Given the description of an element on the screen output the (x, y) to click on. 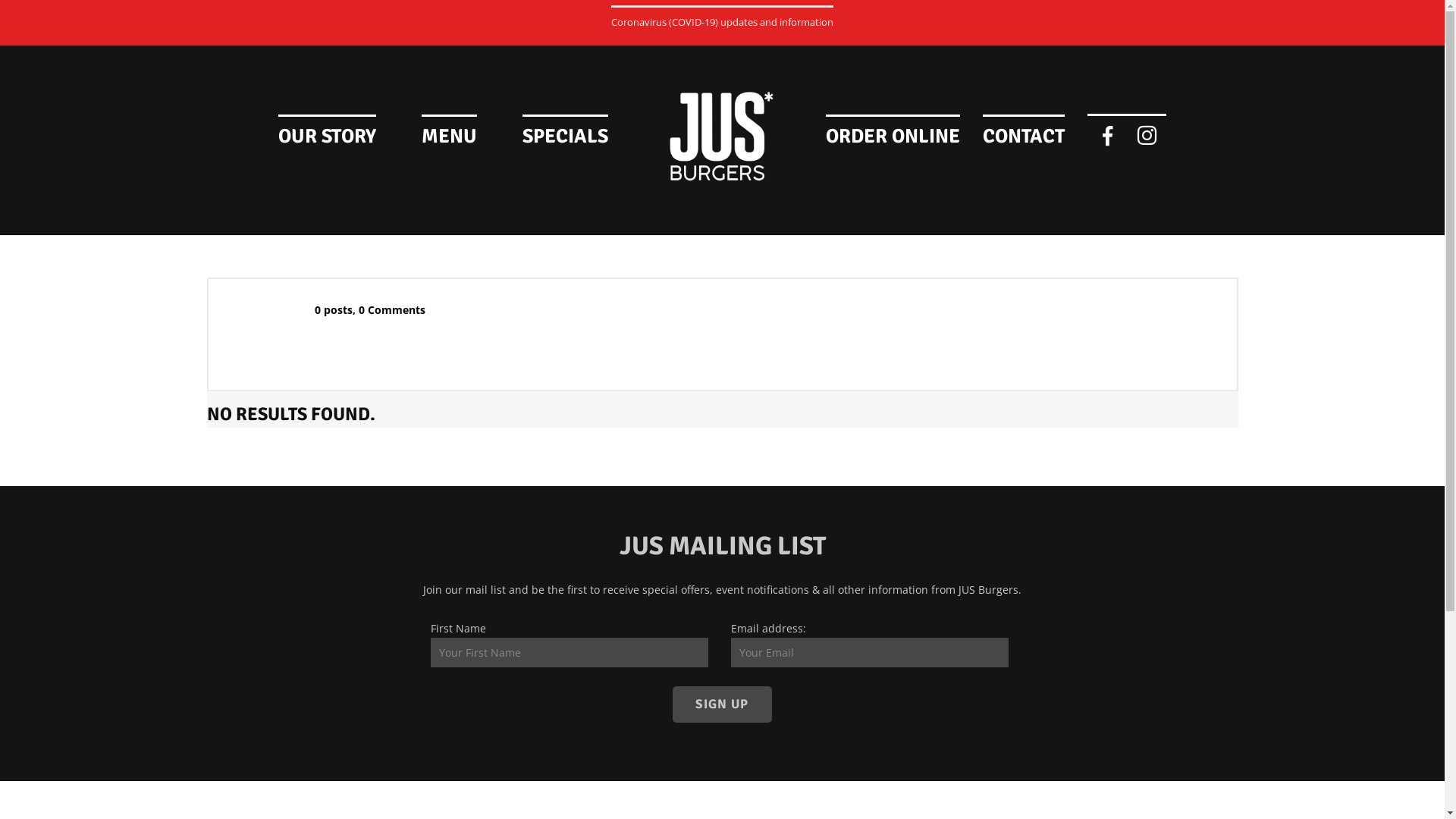
Instagram Element type: hover (1146, 135)
CONTACT Element type: text (1023, 131)
Coronavirus (COVID-19) updates and information Element type: text (722, 16)
MENU Element type: text (448, 131)
Sign up Element type: text (722, 704)
OUR STORY Element type: text (327, 131)
ORDER ONLINE Element type: text (892, 131)
Facebook Element type: hover (1106, 135)
SPECIALS Element type: text (565, 131)
